Given the description of an element on the screen output the (x, y) to click on. 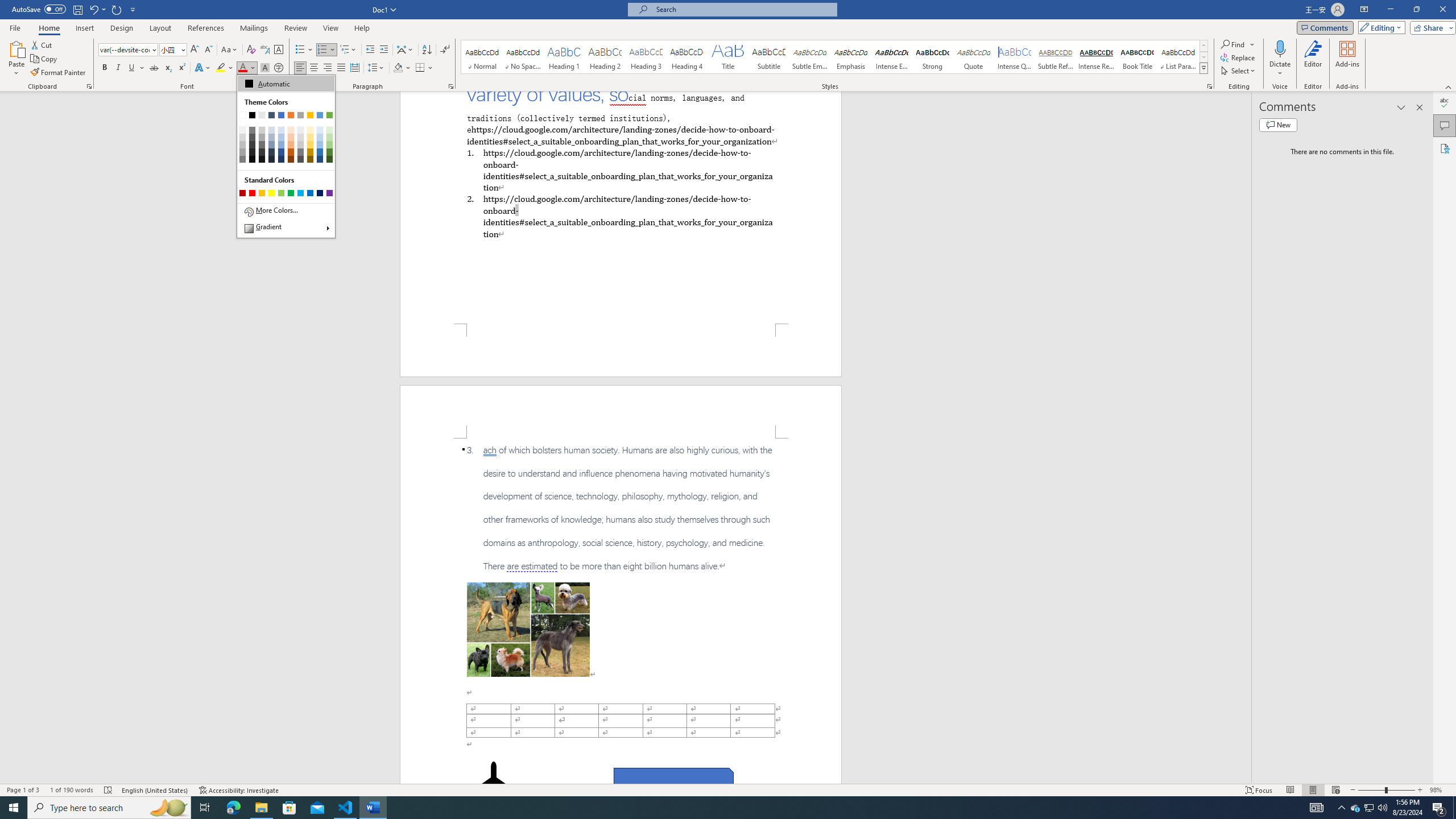
Undo Paragraph Alignment (96, 9)
Heading 4 (686, 56)
3. (620, 507)
Font Color Automatic (241, 67)
